Given the description of an element on the screen output the (x, y) to click on. 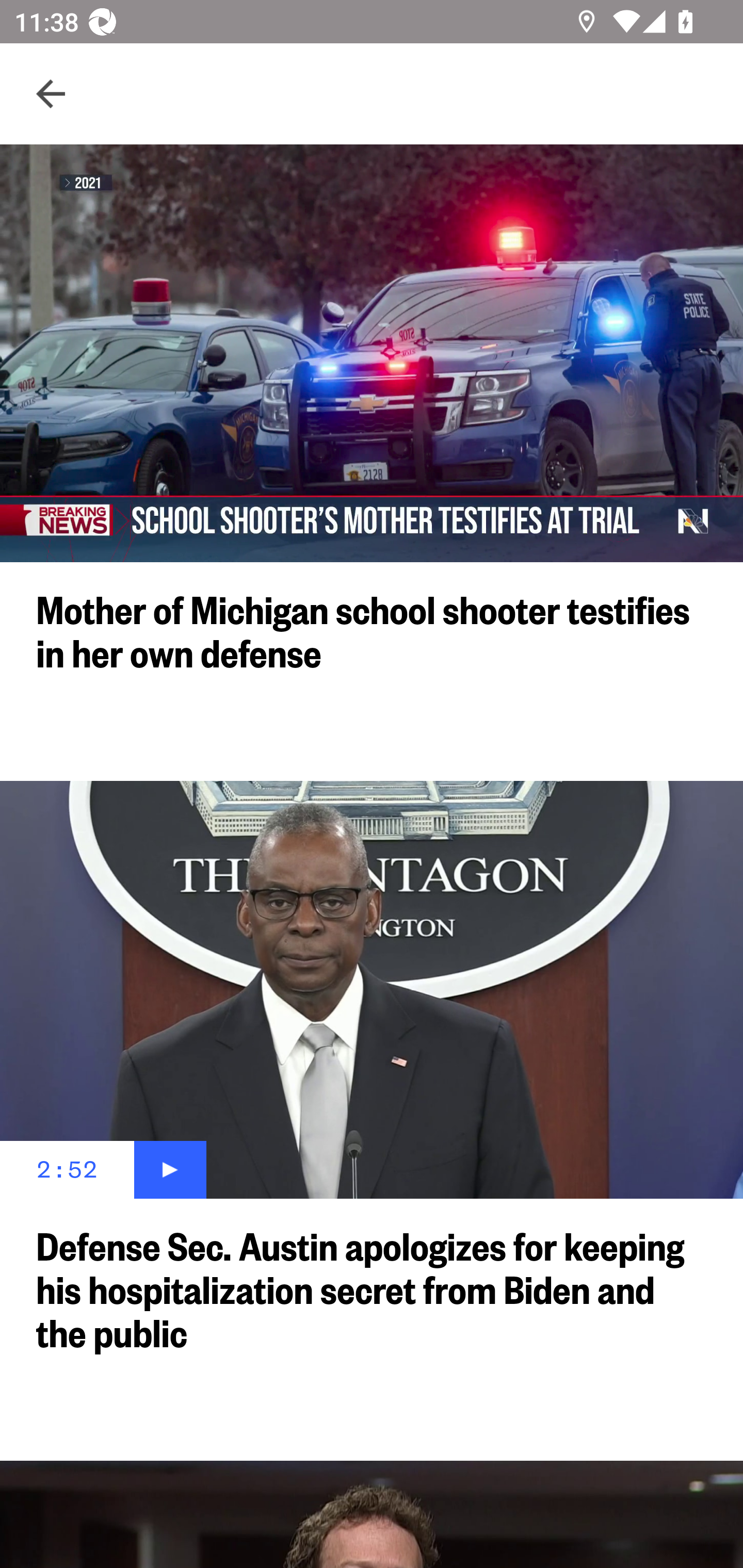
Navigate up (50, 93)
